Given the description of an element on the screen output the (x, y) to click on. 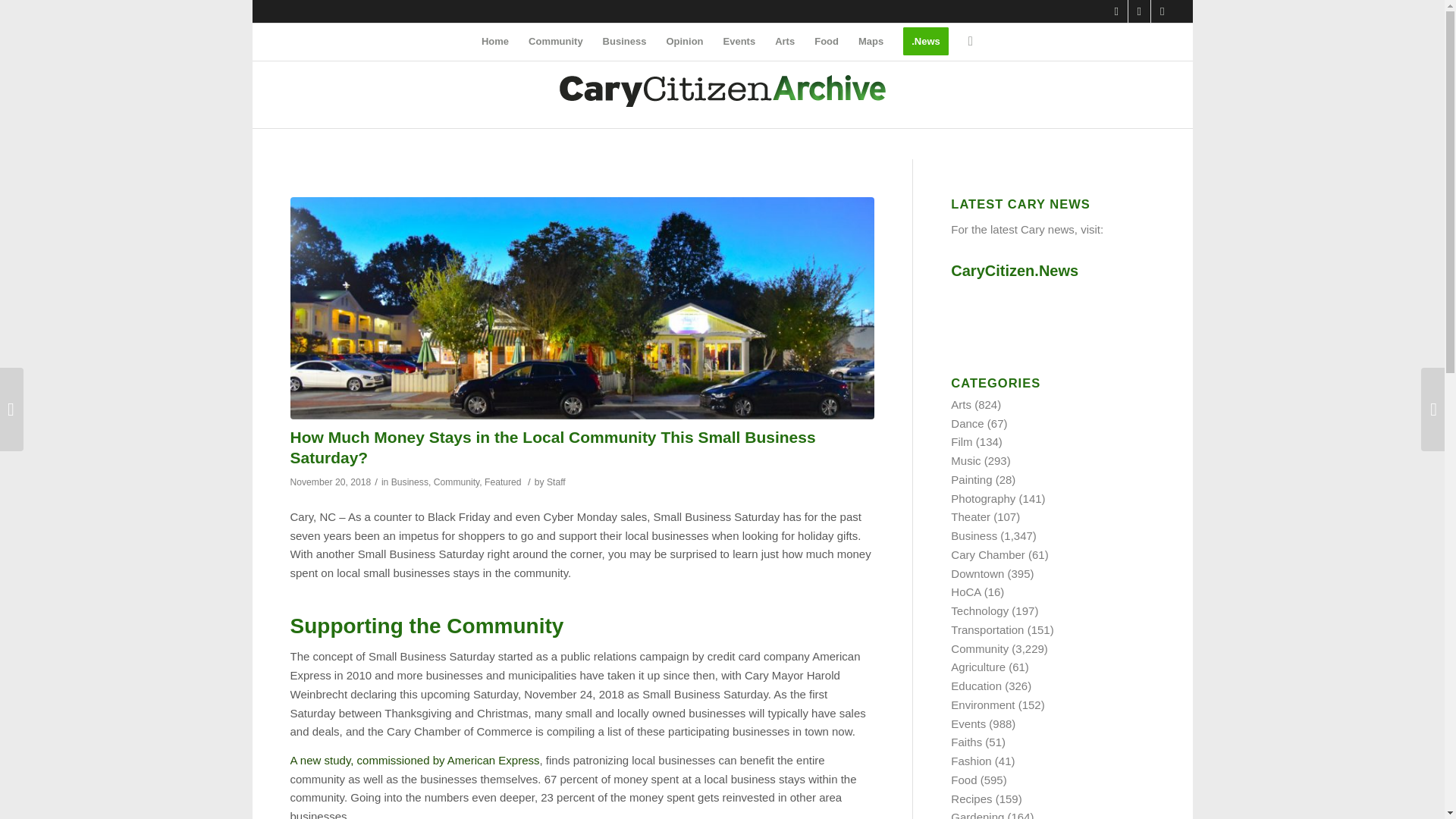
Business (409, 481)
Community (456, 481)
Community (555, 41)
Staff (556, 481)
Featured (502, 481)
Business (624, 41)
Home (494, 41)
Opinion (684, 41)
Maps (870, 41)
Food (826, 41)
Arts (785, 41)
Posts by Staff (556, 481)
